Given the description of an element on the screen output the (x, y) to click on. 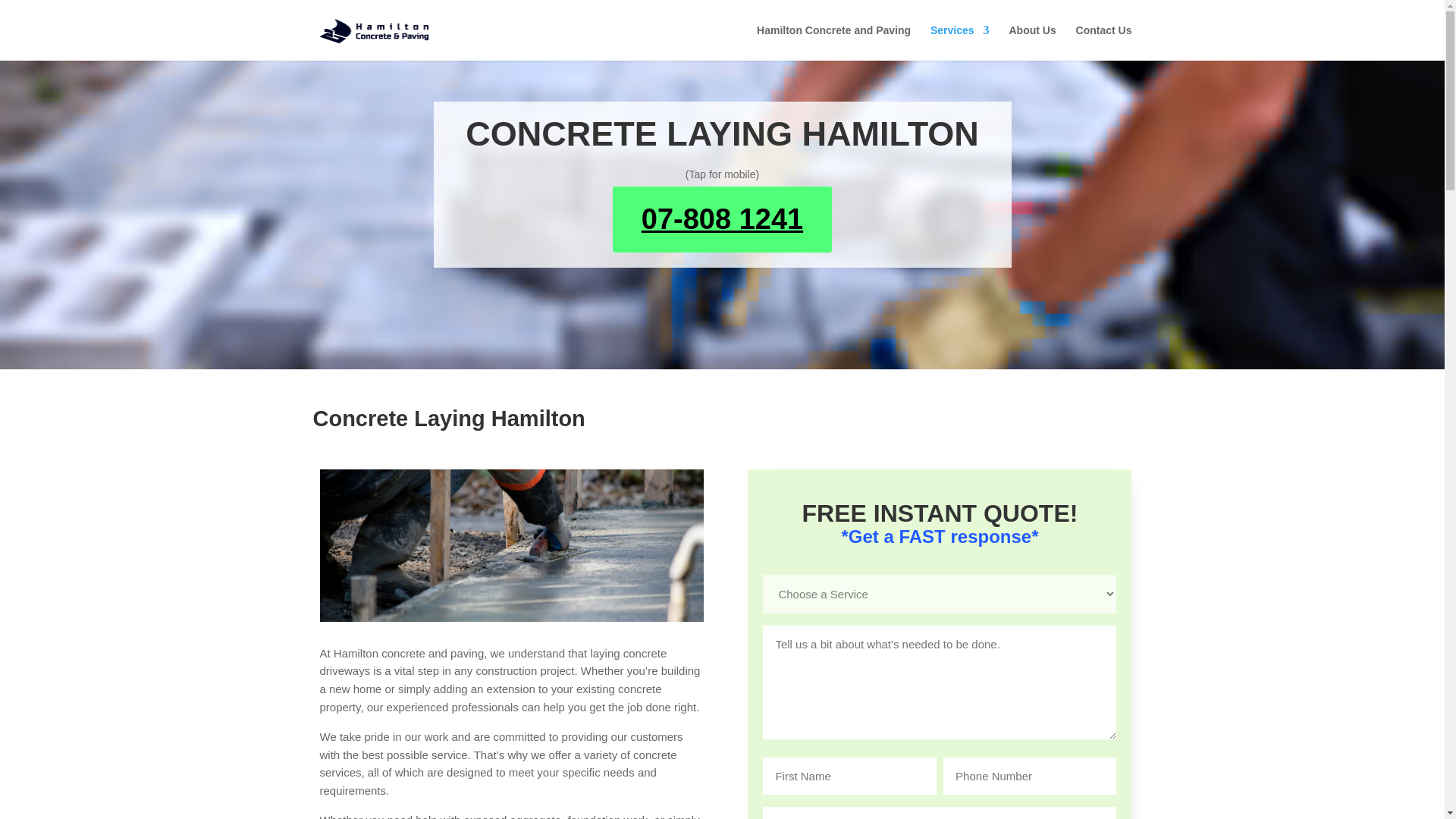
Services (960, 42)
Hamilton-Concrete-1 (511, 617)
About Us (1032, 42)
07-808 1241 (721, 219)
Contact Us (1103, 42)
Hamilton Concrete and Paving (834, 42)
